Given the description of an element on the screen output the (x, y) to click on. 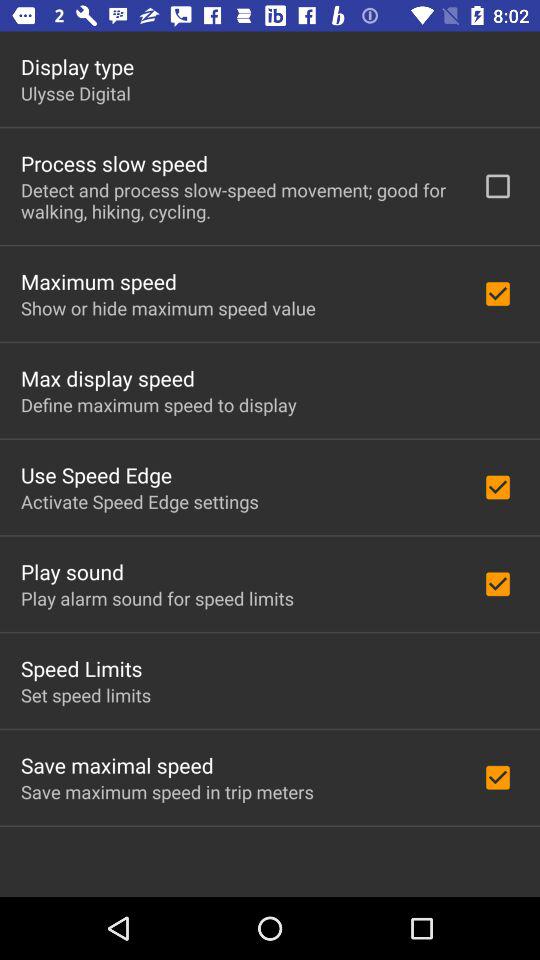
jump to save maximal speed app (117, 765)
